Given the description of an element on the screen output the (x, y) to click on. 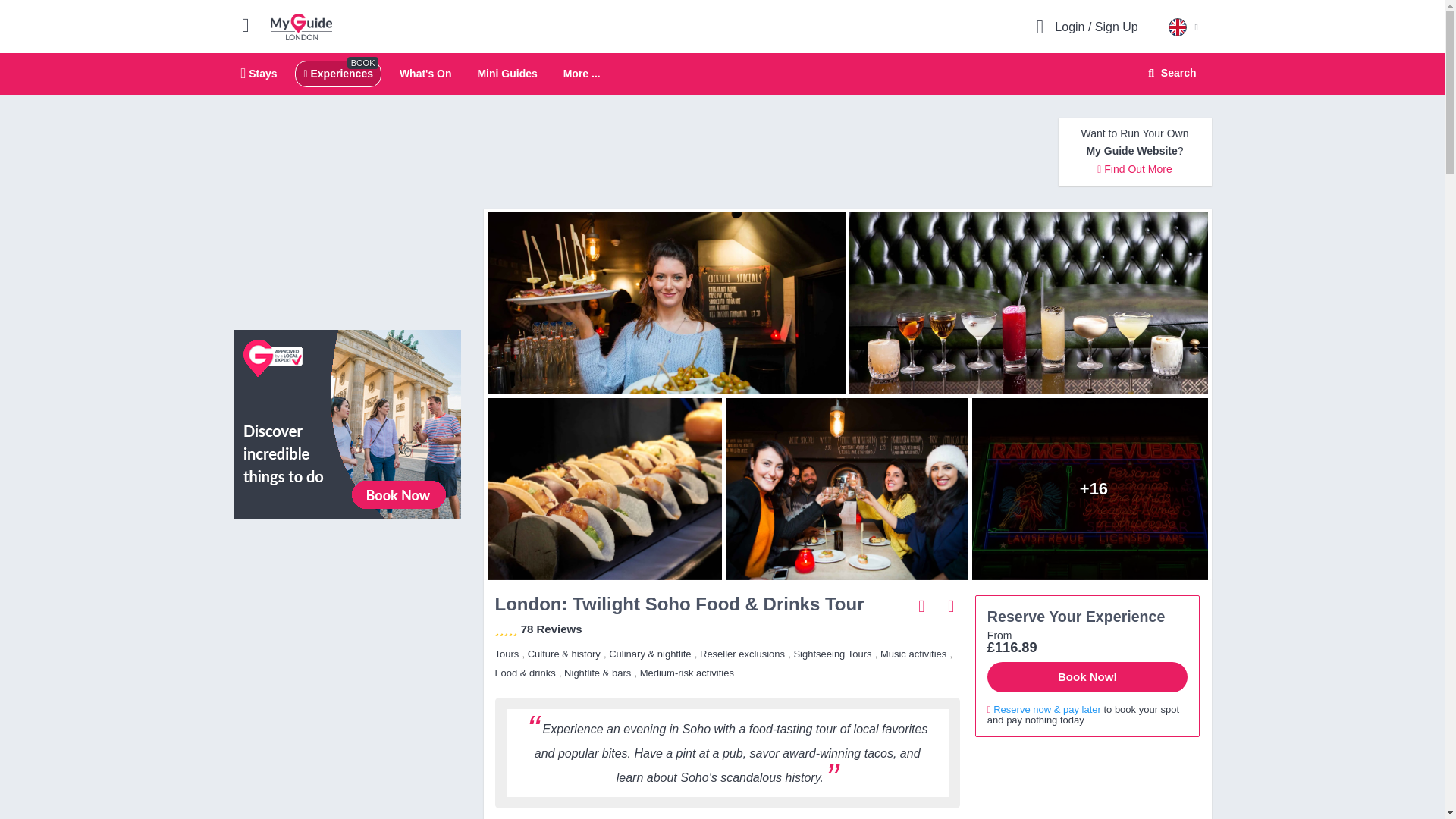
Toggle Menu (251, 24)
Search (1169, 72)
Experiences (337, 73)
Mini Guides (507, 73)
More ... (581, 73)
Add to My Guide (721, 74)
What's On (950, 605)
My Guide London (424, 73)
Stays (300, 25)
